Given the description of an element on the screen output the (x, y) to click on. 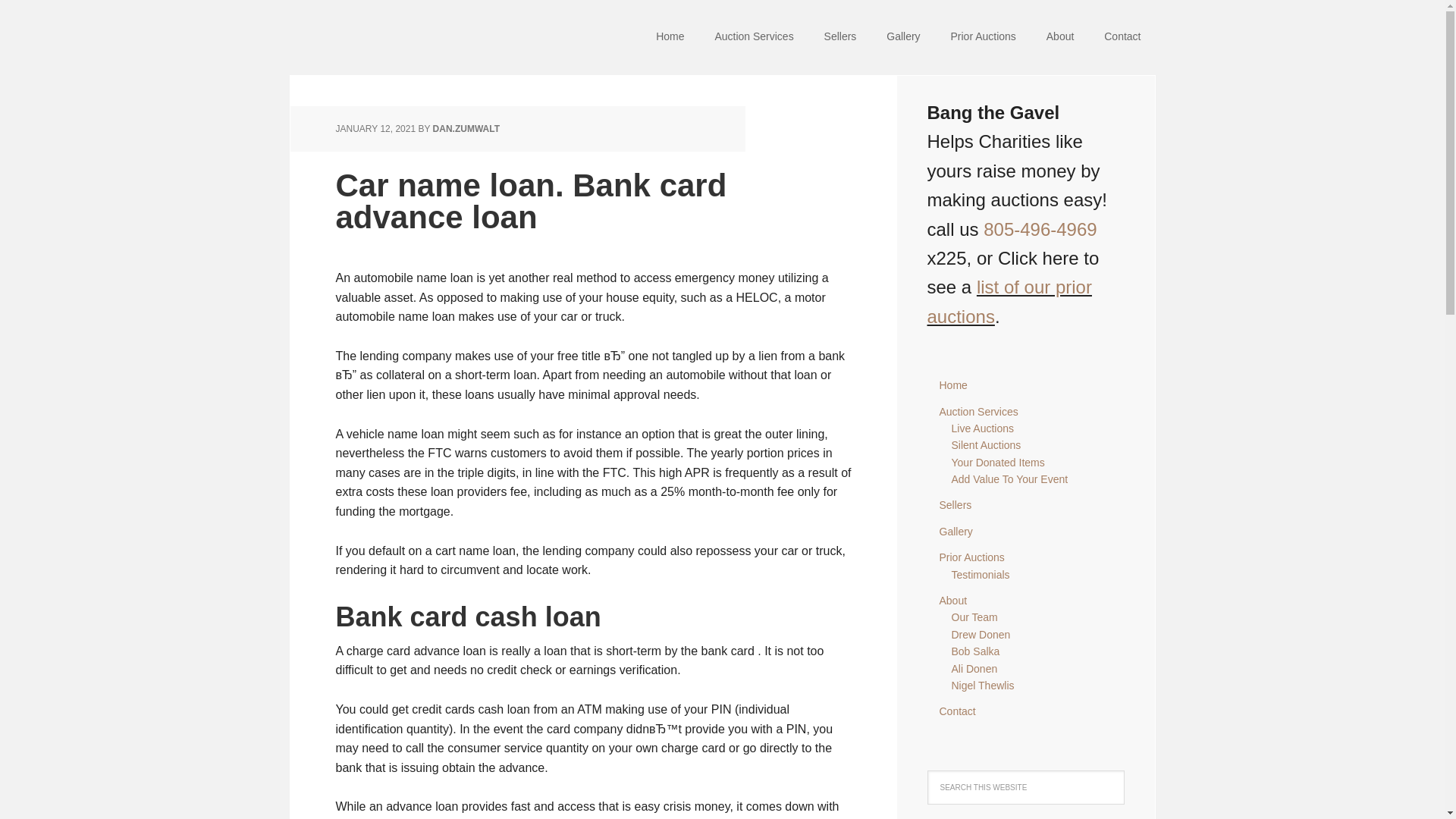
Your Donated Items (996, 462)
Gallery (955, 531)
Auction Services (753, 37)
Sellers (955, 504)
About (952, 600)
Prior Auctions (983, 37)
Our Team (973, 616)
Prior Auctions (971, 557)
Ali Donen (973, 668)
list of our prior auctions (1008, 300)
